Given the description of an element on the screen output the (x, y) to click on. 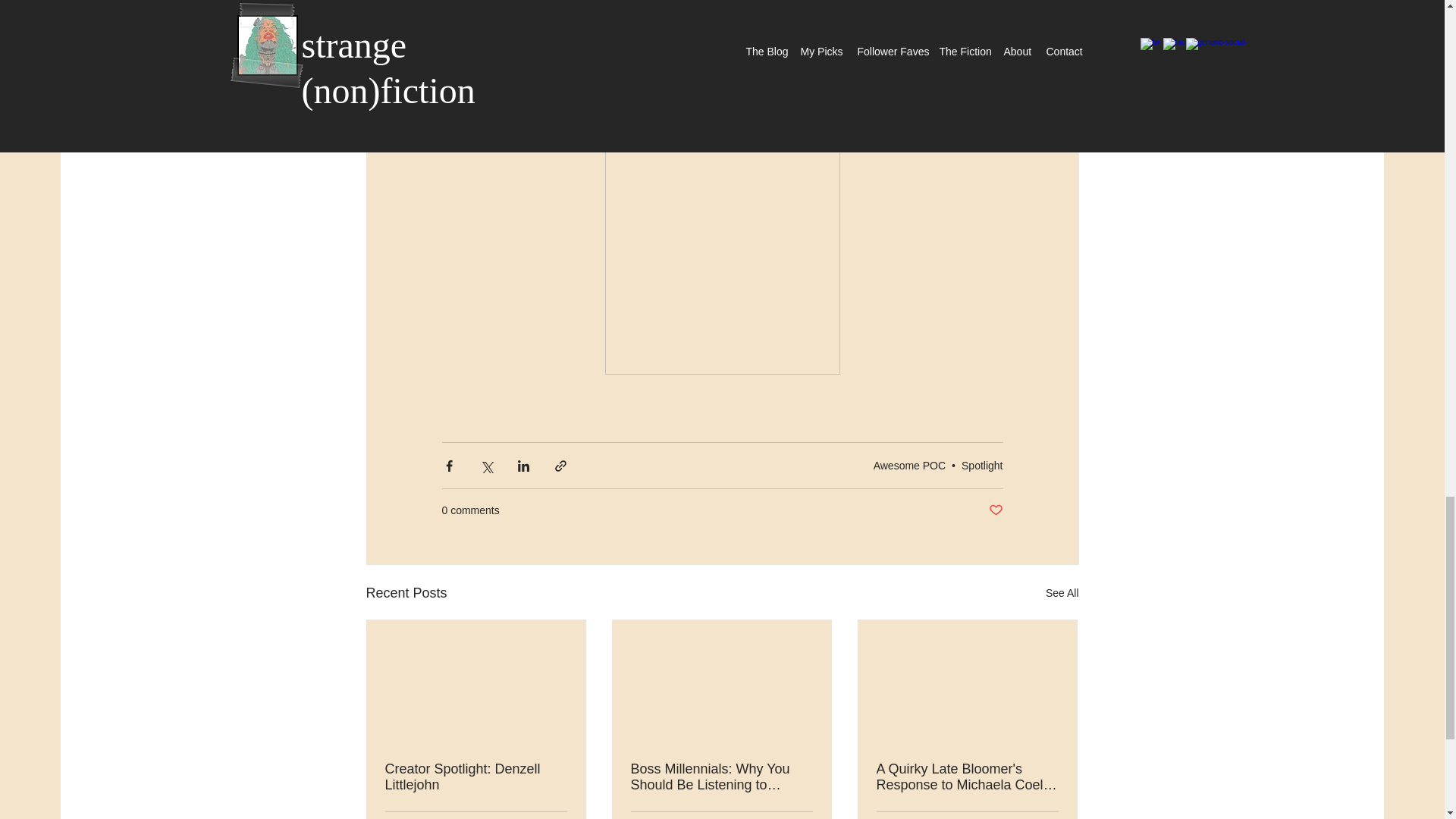
See All (1061, 593)
Awesome POC (908, 465)
Creator Spotlight: Denzell Littlejohn (476, 777)
Post not marked as liked (995, 510)
Spotlight (981, 465)
